Given the description of an element on the screen output the (x, y) to click on. 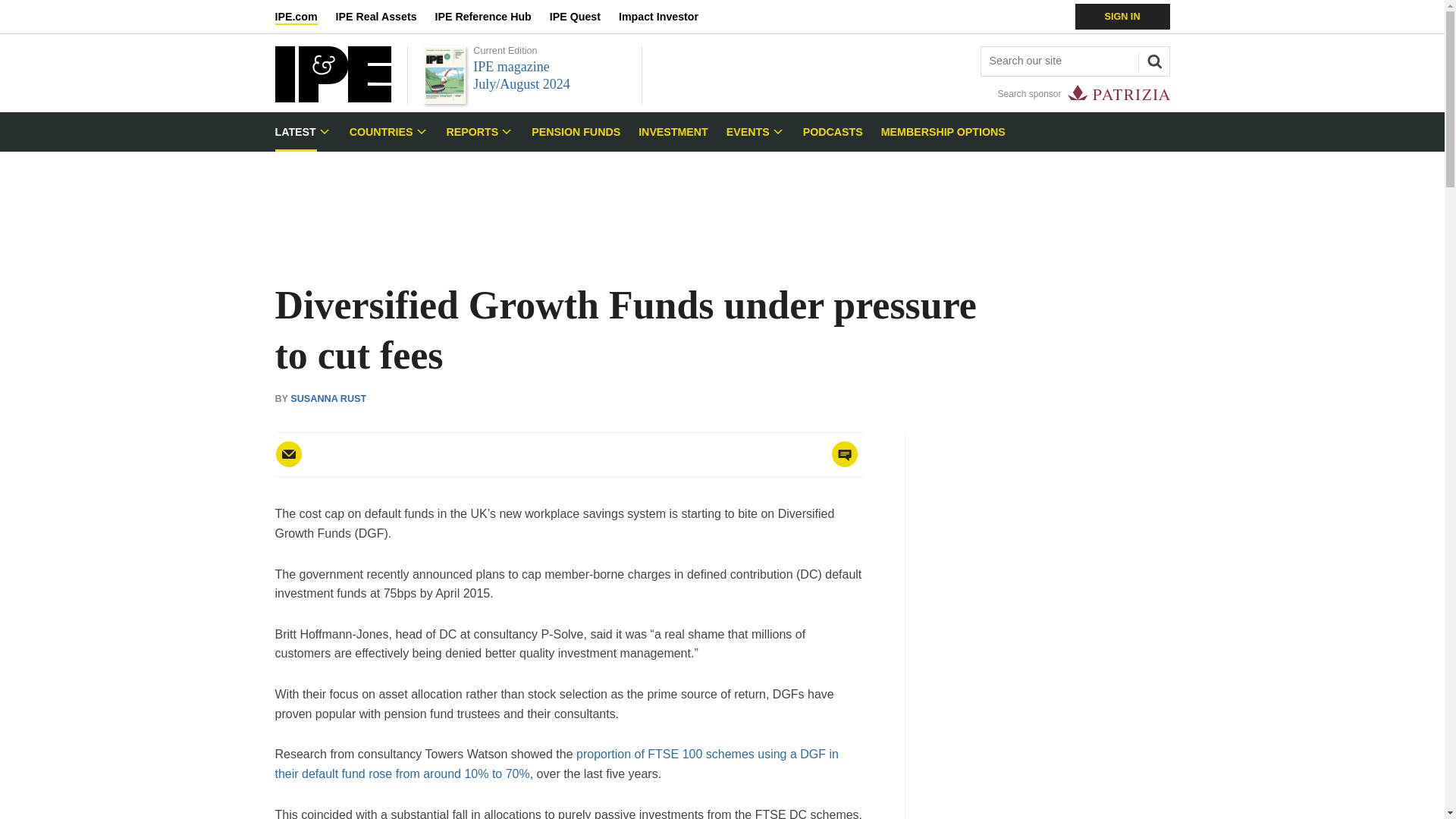
IPE Real Assets (384, 16)
IPE Reference Hub (491, 16)
Email this article (288, 452)
IPE (332, 97)
SIGN IN (1122, 16)
IPE Real Assets (384, 16)
IPE Reference Hub (491, 16)
IPE Quest (583, 16)
3rd party ad content (721, 201)
IPE Quest (583, 16)
